Given the description of an element on the screen output the (x, y) to click on. 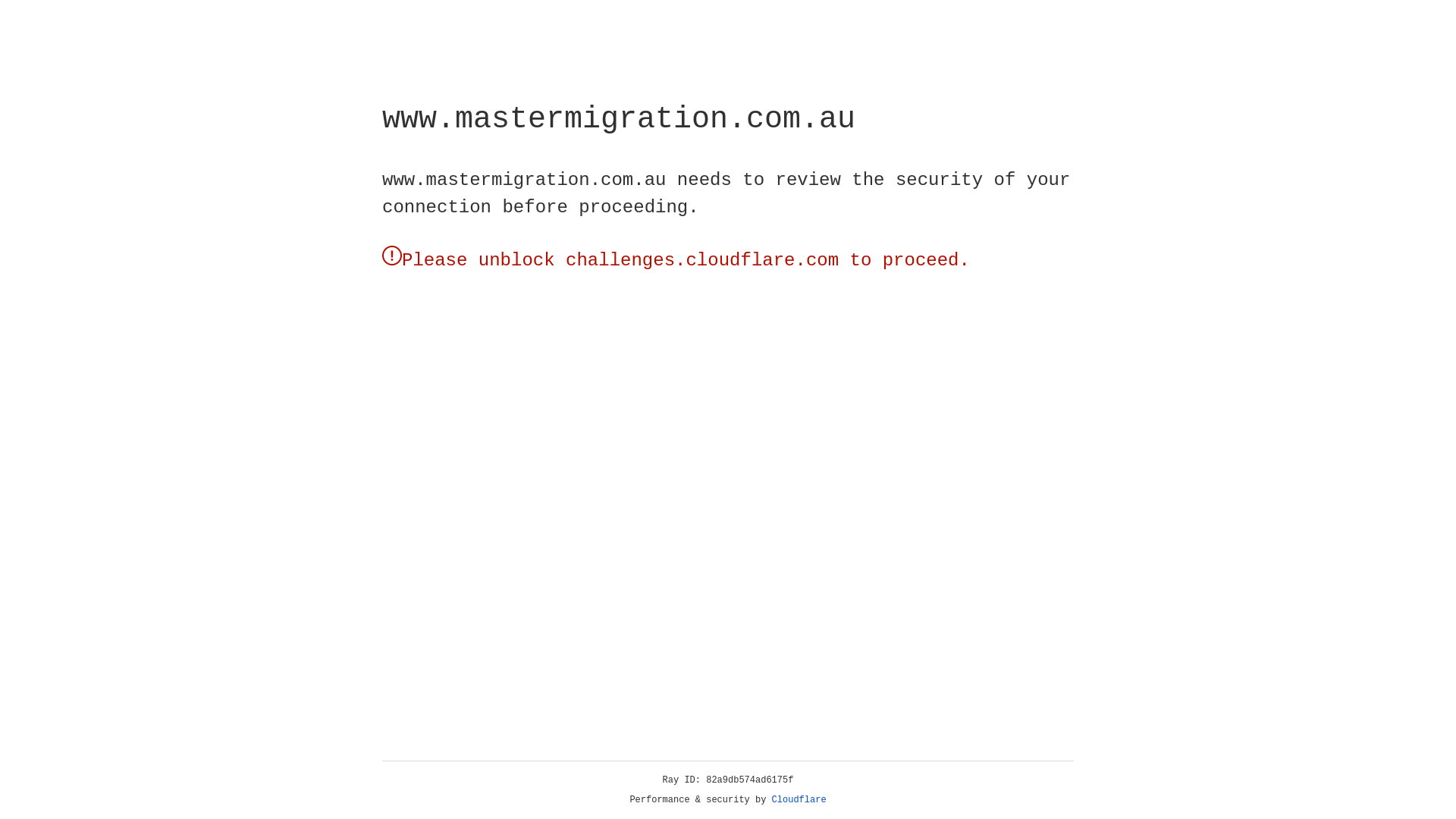
Cloudflare Element type: text (798, 799)
